Given the description of an element on the screen output the (x, y) to click on. 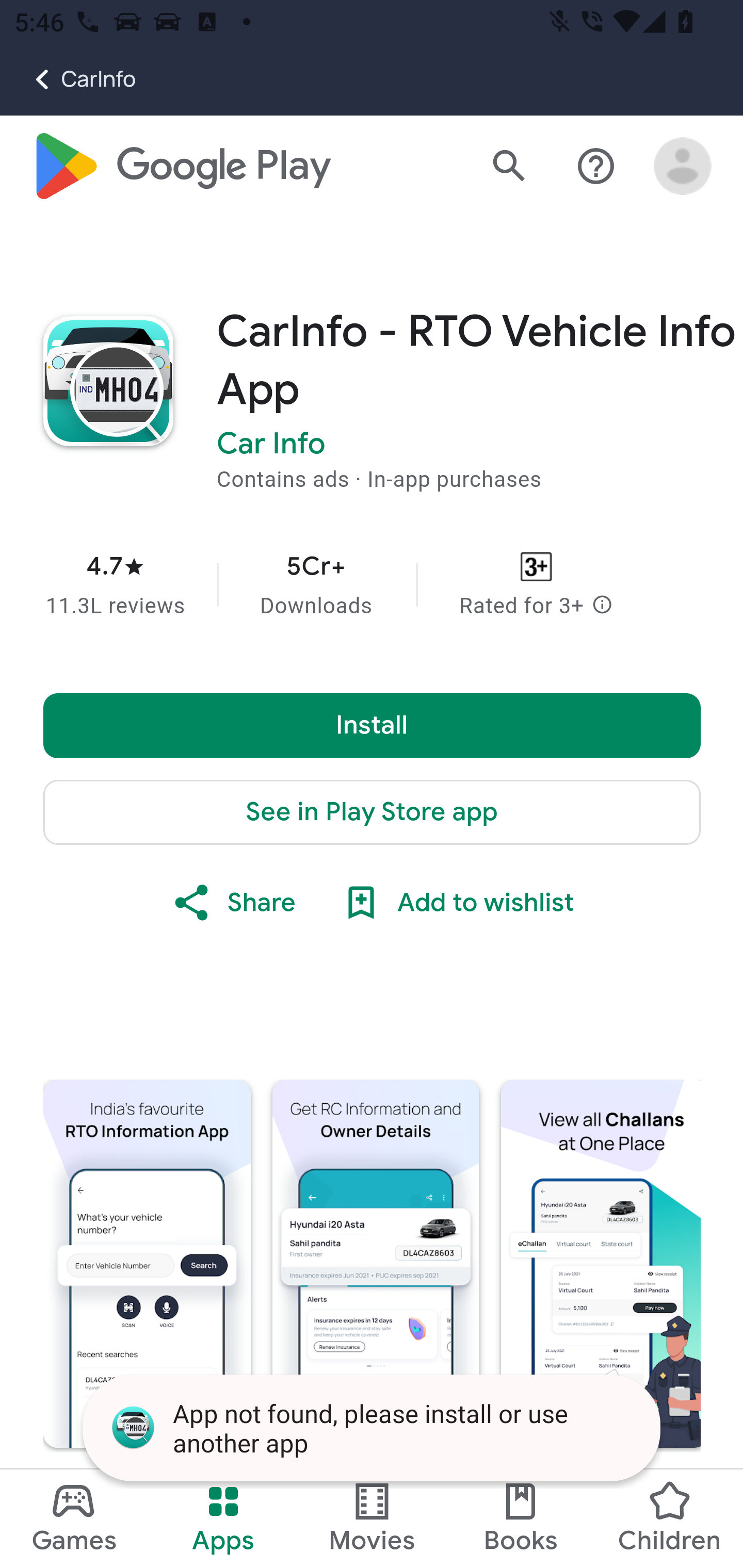
CarInfo (67, 79)
Google Play logo (180, 166)
Search (508, 166)
Help centre (596, 166)
Open account menu (682, 166)
Car Info (271, 445)
More info about this content rating (601, 606)
Install (372, 726)
See in Play Store app (372, 812)
Share (233, 903)
Add to wishlist (455, 903)
Screenshot image (147, 1263)
Screenshot image (375, 1263)
Screenshot image (601, 1263)
Games (74, 1518)
Apps (222, 1518)
Movies (372, 1518)
Books (520, 1518)
Children (668, 1518)
